Given the description of an element on the screen output the (x, y) to click on. 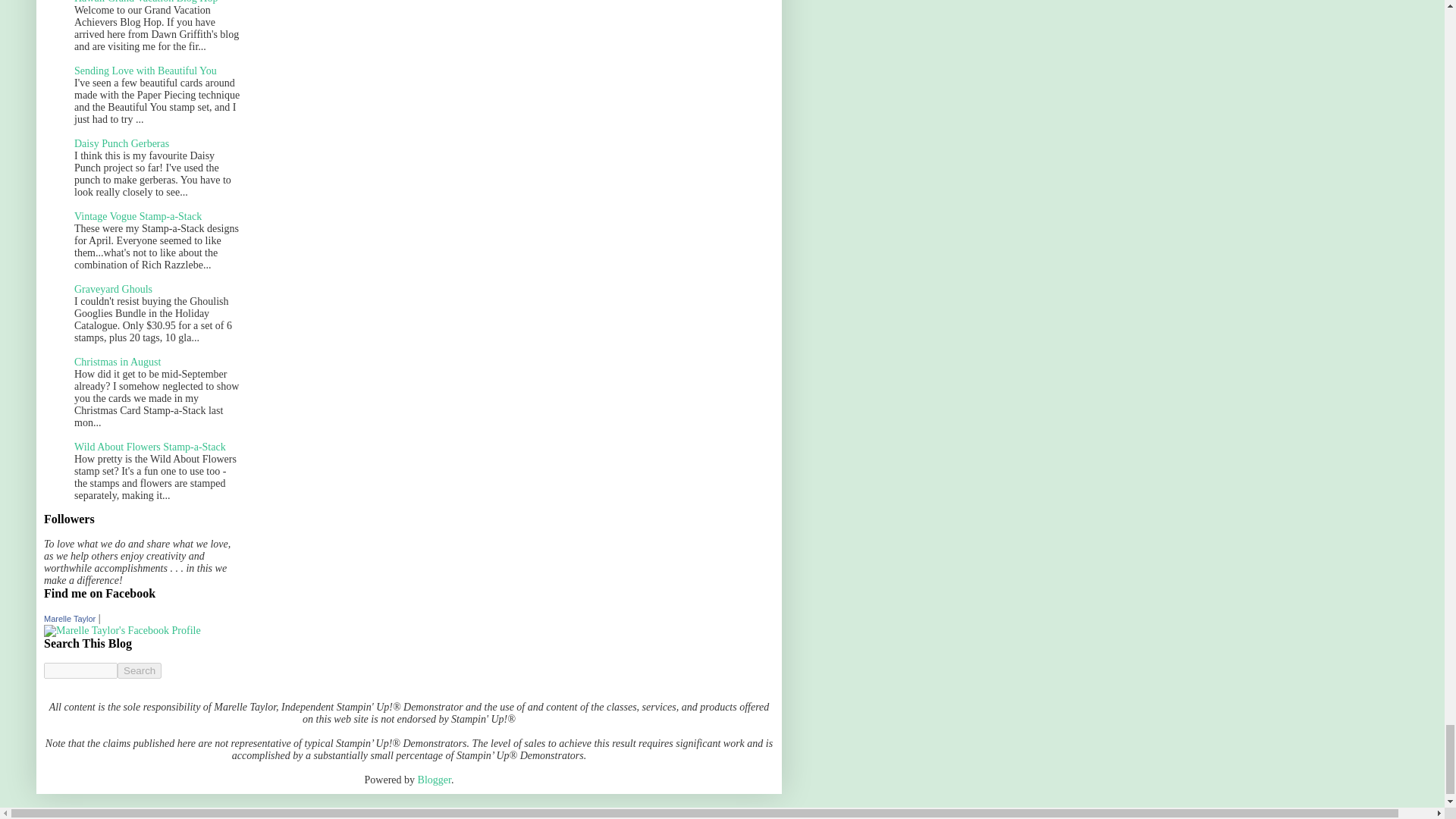
Search (139, 670)
Search (139, 670)
